Given the description of an element on the screen output the (x, y) to click on. 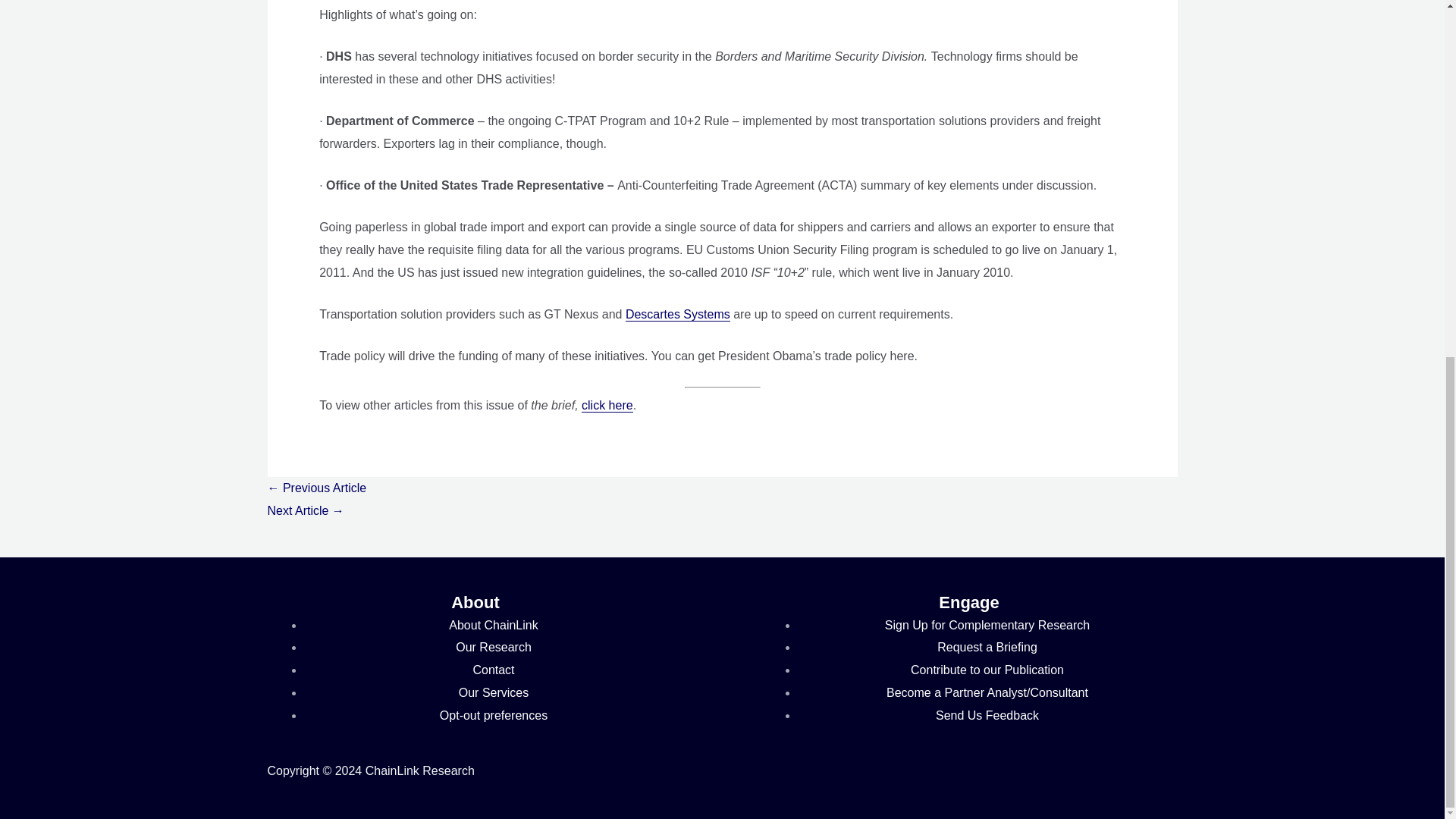
Sign Up for Complementary Research (987, 625)
Opt-out preferences (493, 715)
Contact (492, 669)
About ChainLink (492, 625)
Our Research (493, 646)
Descartes Systems (678, 314)
Our Services (493, 692)
click here (606, 405)
